Given the description of an element on the screen output the (x, y) to click on. 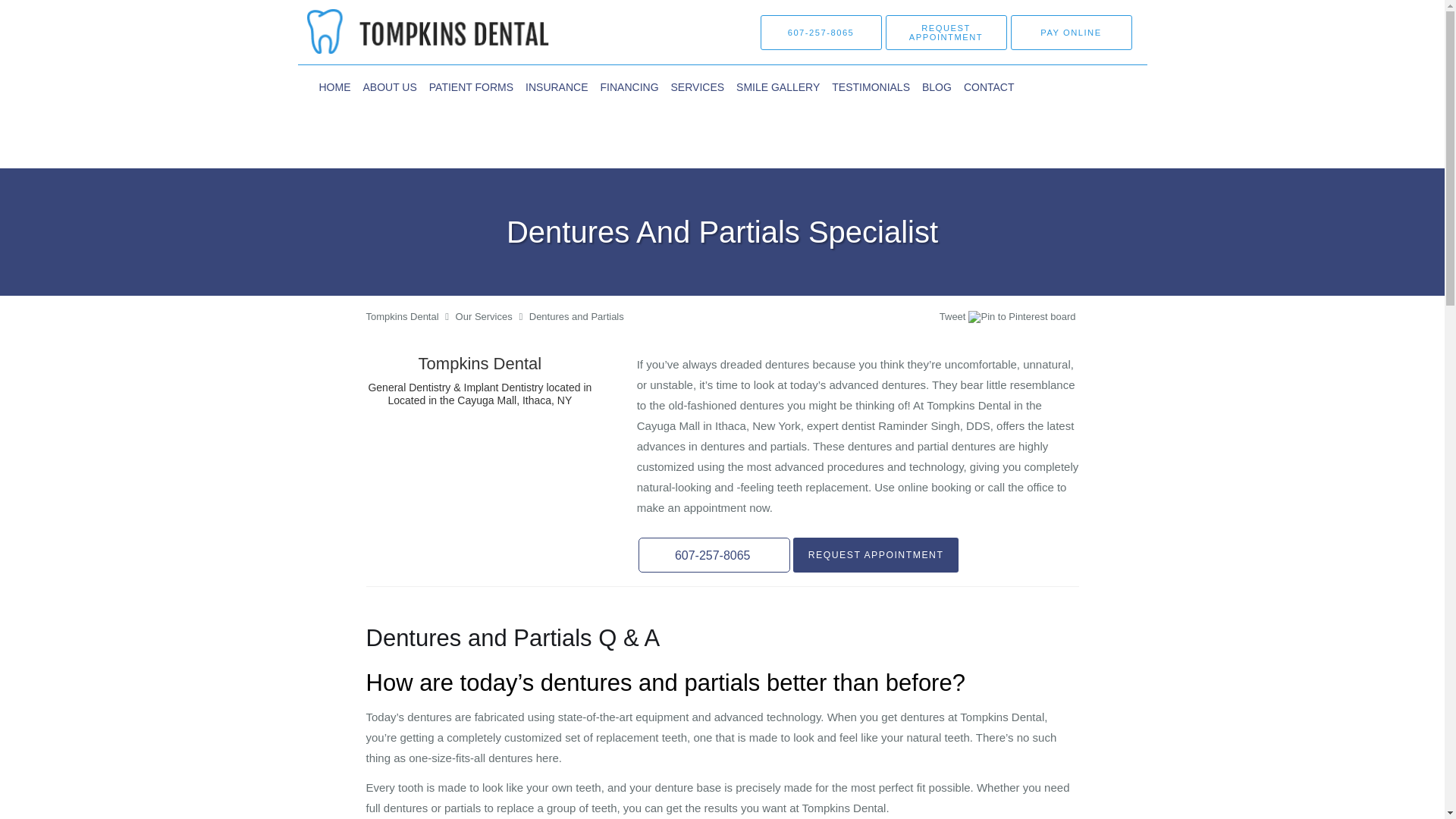
REQUEST APPOINTMENT (946, 32)
TESTIMONIALS (870, 86)
PATIENT FORMS (471, 86)
Tweet (952, 316)
FINANCING (629, 86)
607-257-8065 (820, 32)
REQUEST APPOINTMENT (876, 554)
CONTACT (989, 86)
PAY ONLINE (1070, 32)
Facebook social button (880, 318)
INSURANCE (556, 86)
Dentures and Partials (576, 316)
BLOG (936, 86)
SMILE GALLERY (777, 86)
HOME (334, 86)
